Given the description of an element on the screen output the (x, y) to click on. 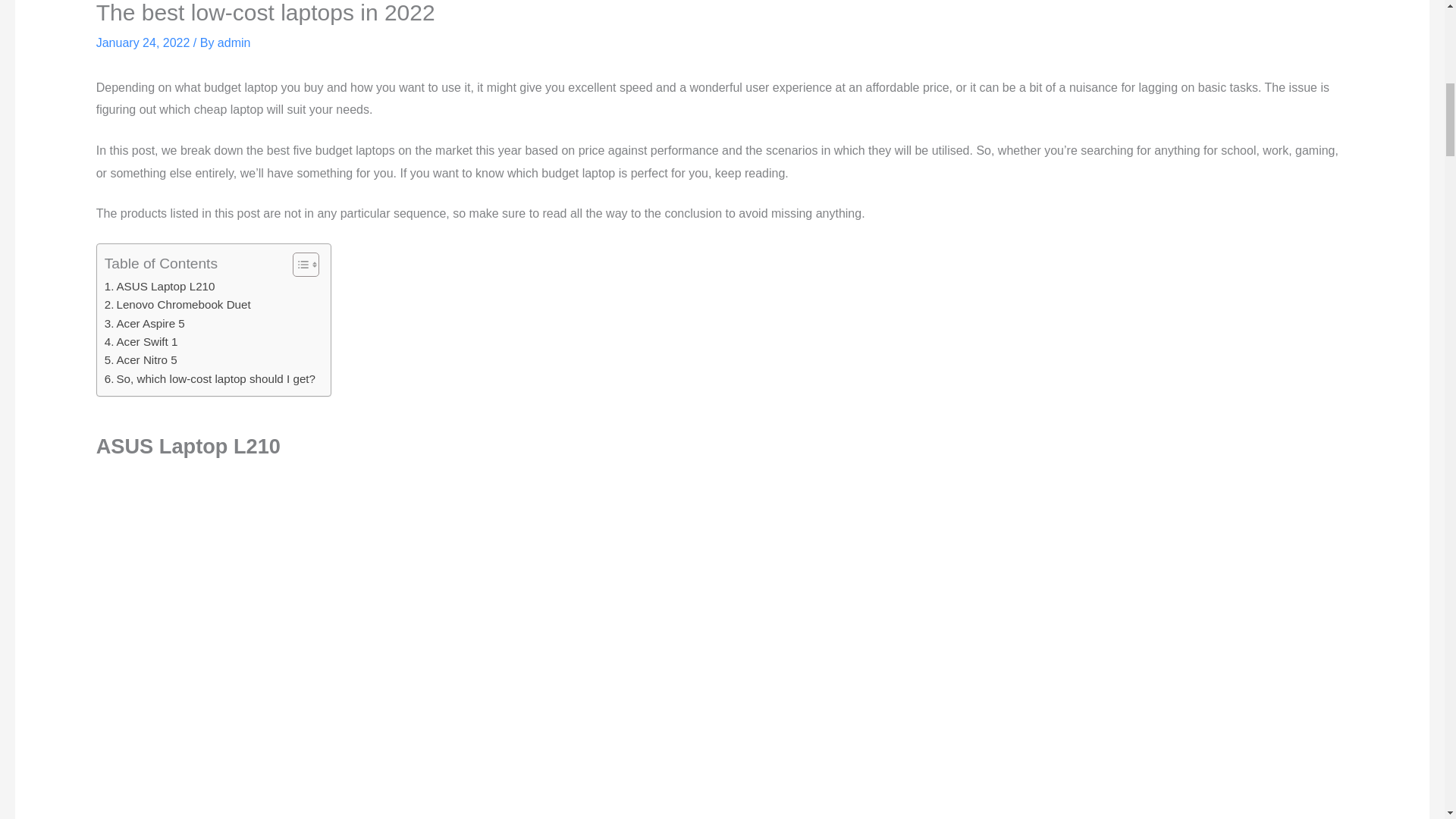
Acer Nitro 5 (140, 360)
Lenovo Chromebook Duet (177, 304)
Acer Aspire 5 (144, 323)
Lenovo Chromebook Duet (177, 304)
Acer Swift 1 (140, 341)
ASUS Laptop L210 (159, 286)
Acer Aspire 5 (144, 323)
So, which low-cost laptop should I get? (209, 379)
Acer Swift 1 (140, 341)
View all posts by admin (233, 42)
